Given the description of an element on the screen output the (x, y) to click on. 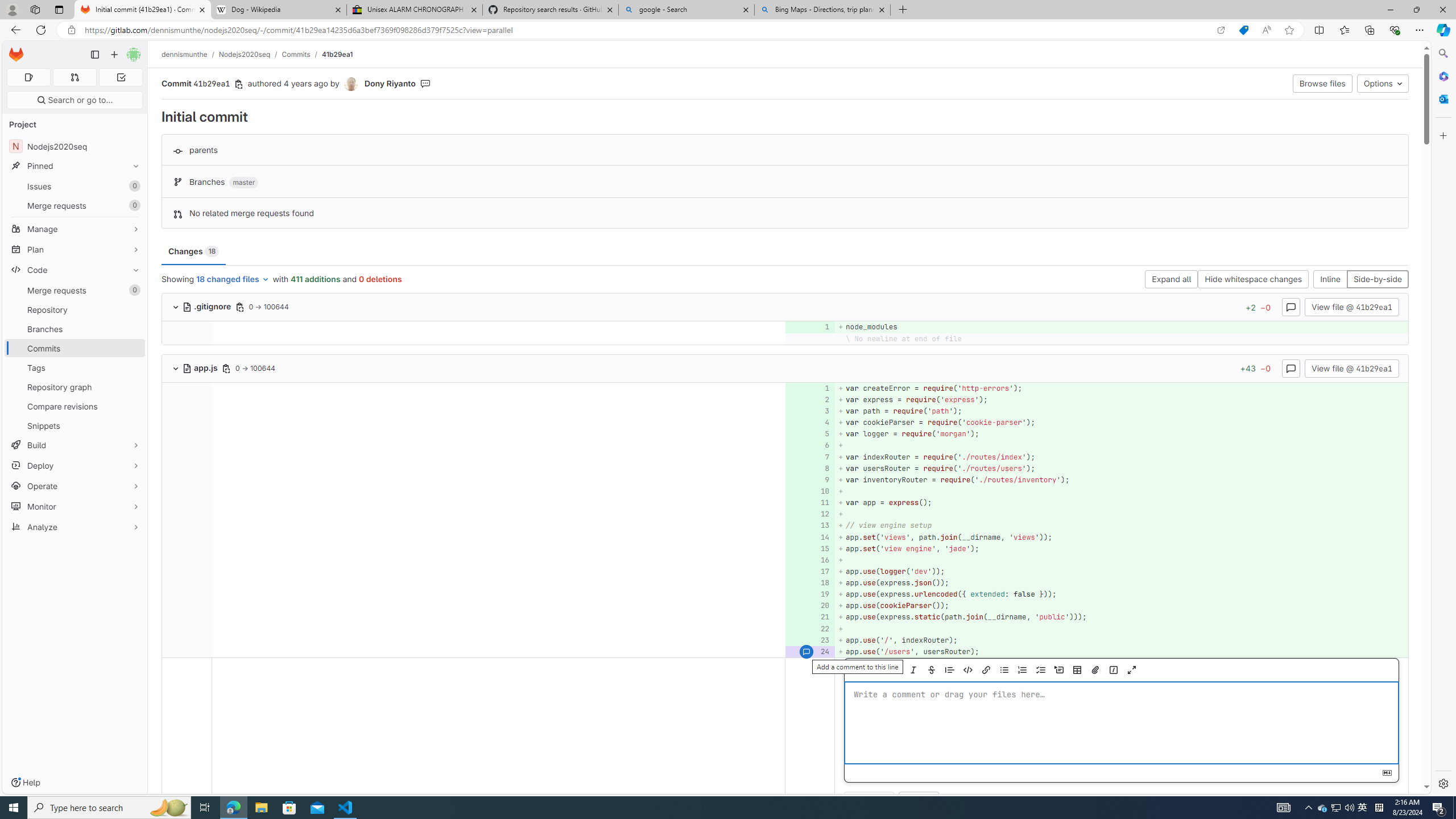
Operate (74, 485)
app.js  (200, 367)
Add a comment to this line 12 (809, 514)
Go full screen (1131, 670)
+ var cookieParser = require('cookie-parser');  (1120, 422)
Monitor (74, 506)
Repository graph (74, 386)
Class: line_holder parallel (784, 651)
Add a comment to this line 8 (809, 468)
22 (808, 628)
Add a comment to this line 23 (809, 639)
Build (74, 444)
